Given the description of an element on the screen output the (x, y) to click on. 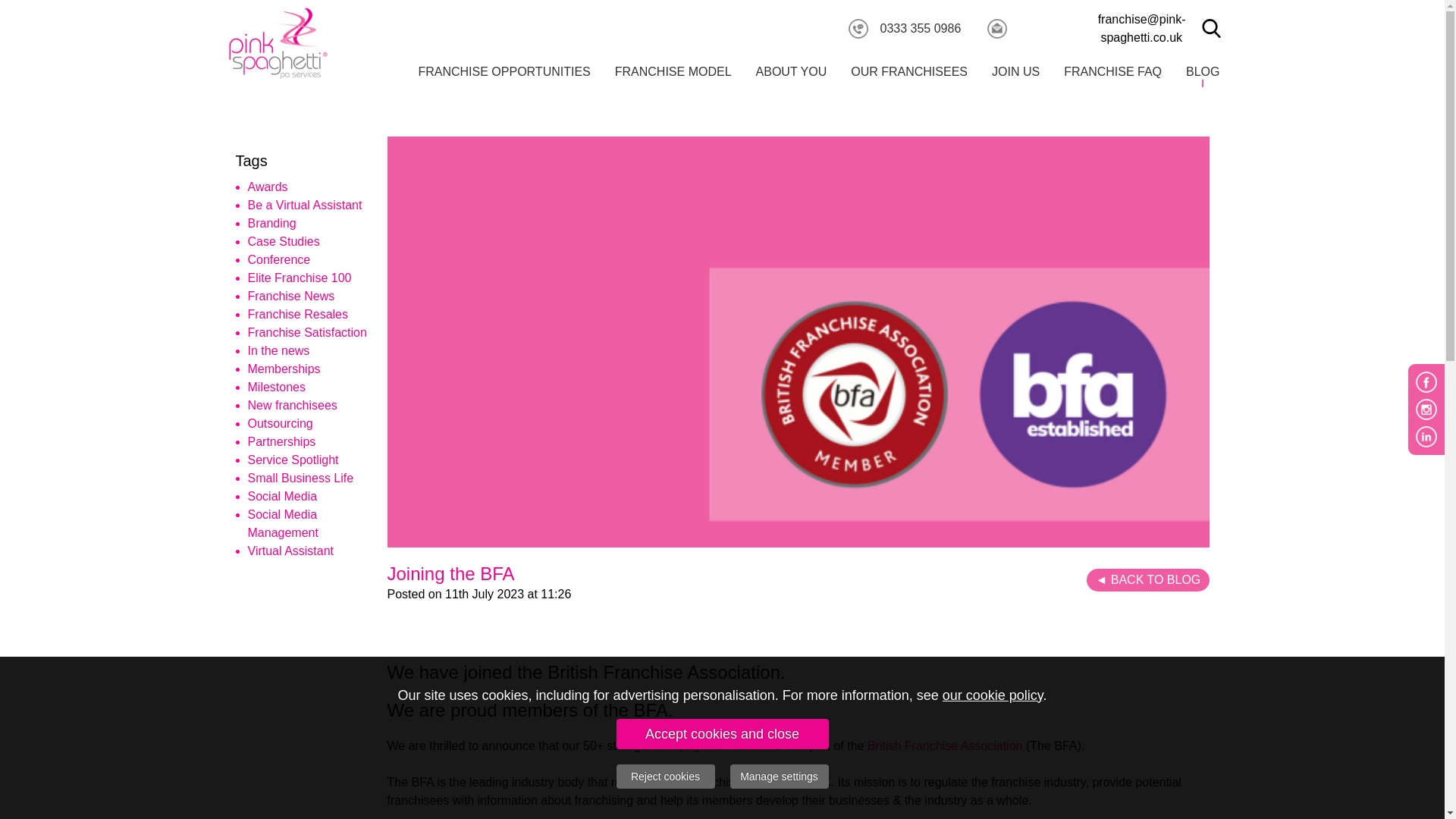
ABOUT YOU (792, 71)
Franchise News (290, 295)
Memberships (283, 368)
BACK TO BLOG (1147, 579)
Franchise Satisfaction (306, 332)
Pink Spaghetti network (706, 745)
In the news (277, 350)
JOIN US (1015, 71)
Milestones (275, 386)
Small Business Life (300, 477)
Be a Virtual Assistant (304, 205)
Social Media (282, 495)
Outsourcing (280, 422)
Service Spotlight (292, 459)
FRANCHISE MODEL (673, 71)
